Given the description of an element on the screen output the (x, y) to click on. 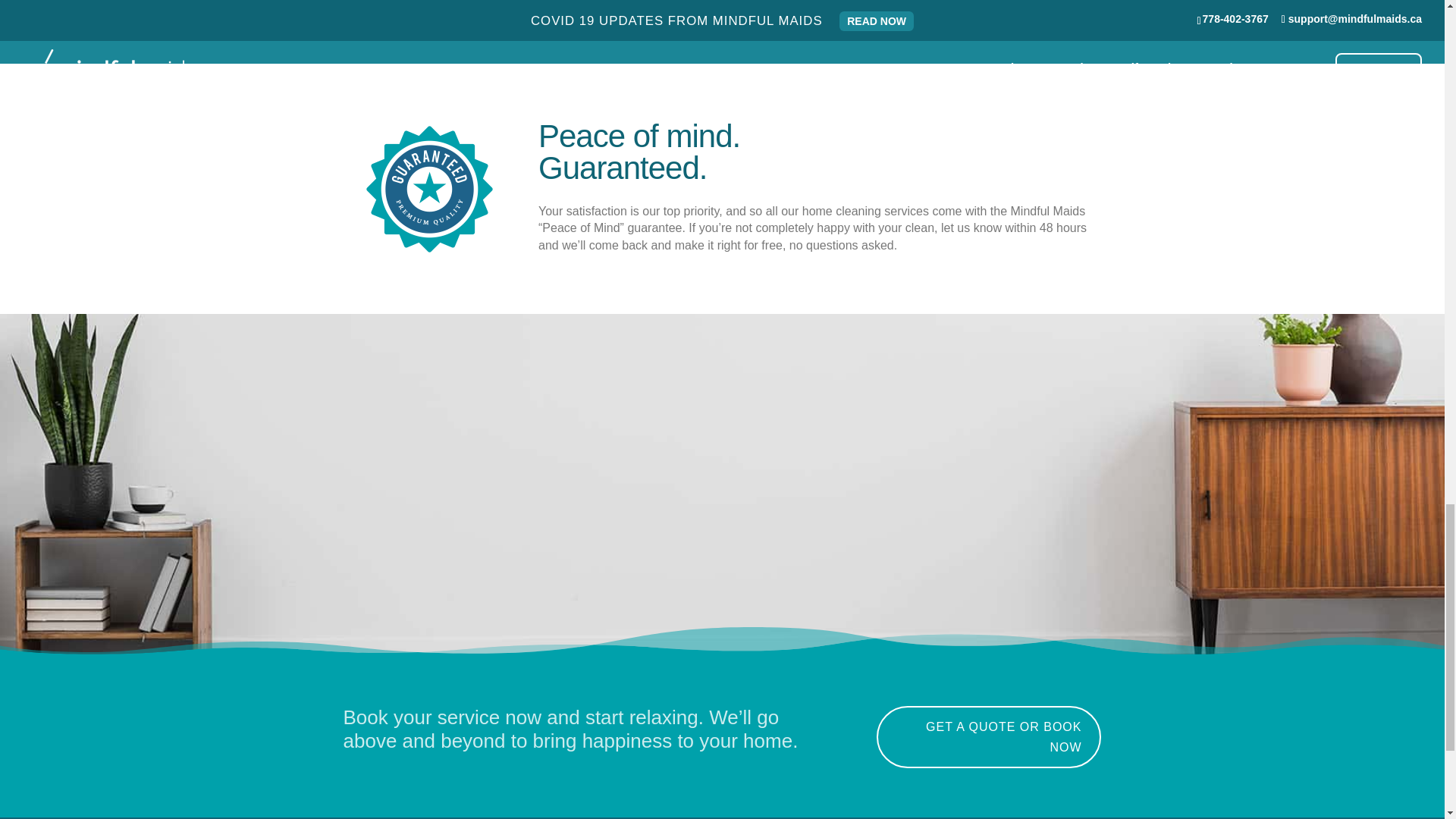
GET A QUOTE OR BOOK NOW (989, 736)
